Given the description of an element on the screen output the (x, y) to click on. 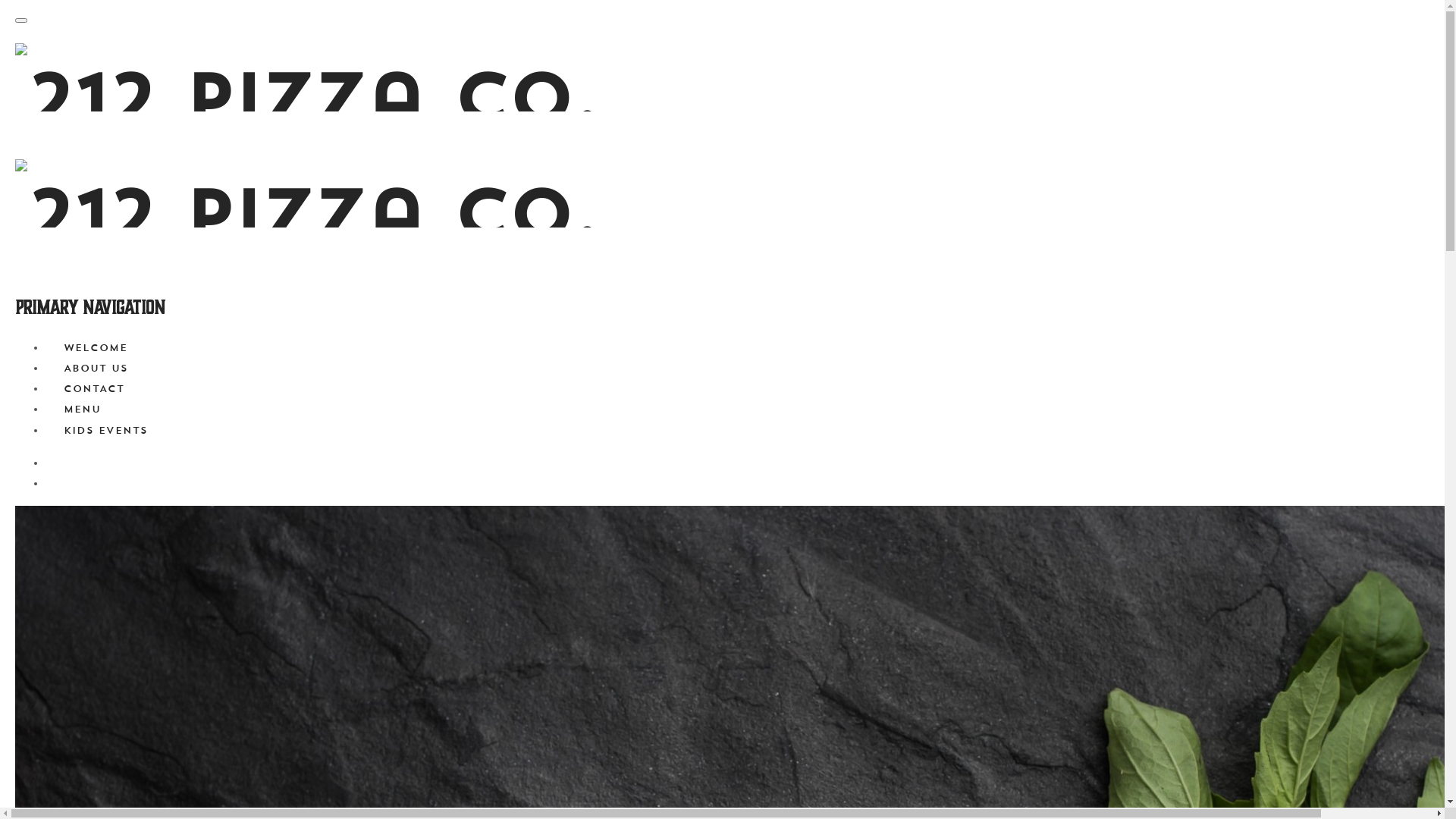
MENU Element type: text (82, 409)
212 Pizza Co. Element type: hover (307, 158)
INSTAGRAM Element type: text (63, 483)
FACEBOOK Element type: text (63, 462)
CONTACT Element type: text (93, 388)
WELCOME Element type: text (95, 347)
KIDS EVENTS Element type: text (105, 430)
ABOUT US Element type: text (95, 368)
